Given the description of an element on the screen output the (x, y) to click on. 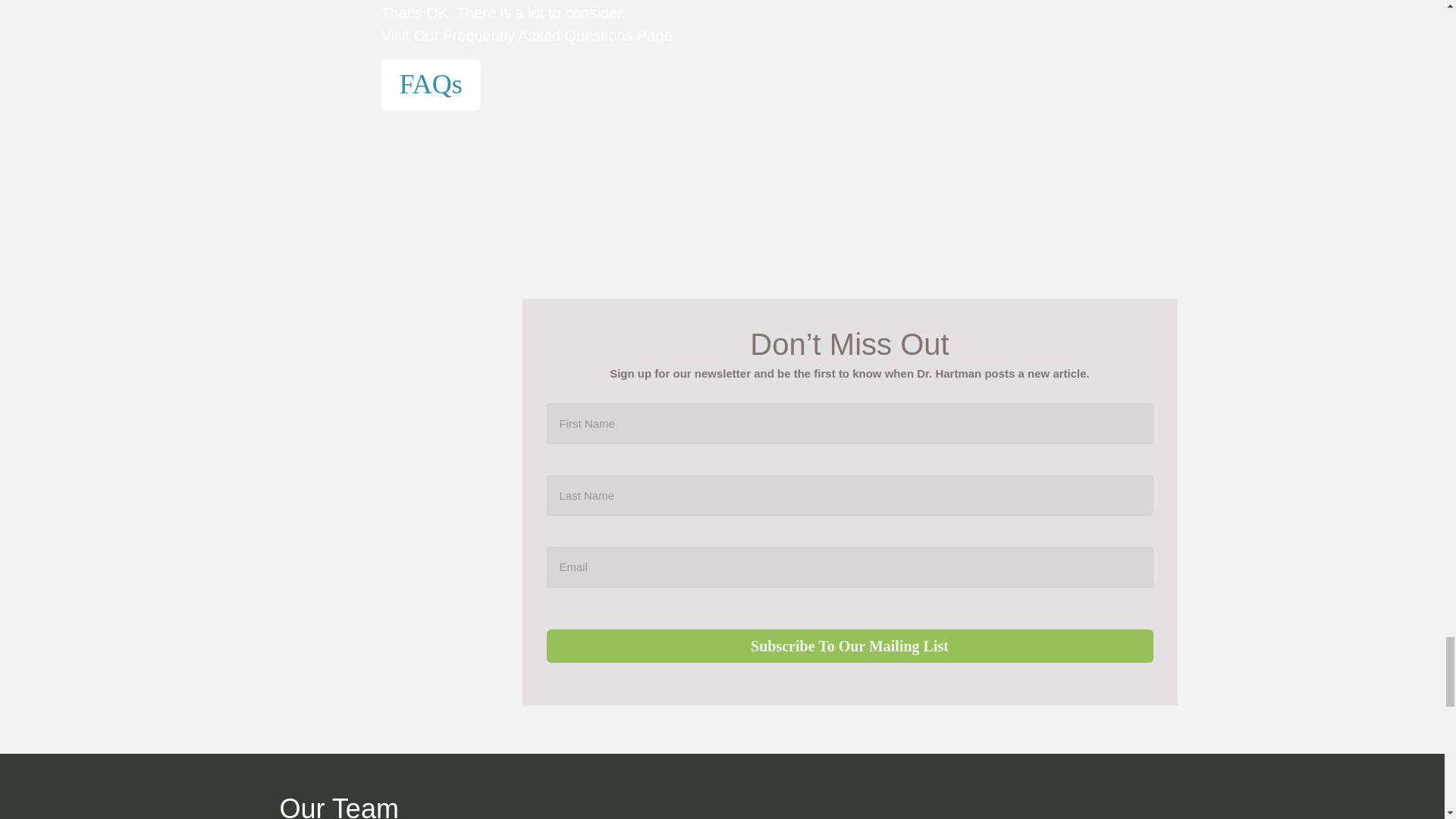
Subscribe To Our Mailing List (849, 645)
